Given the description of an element on the screen output the (x, y) to click on. 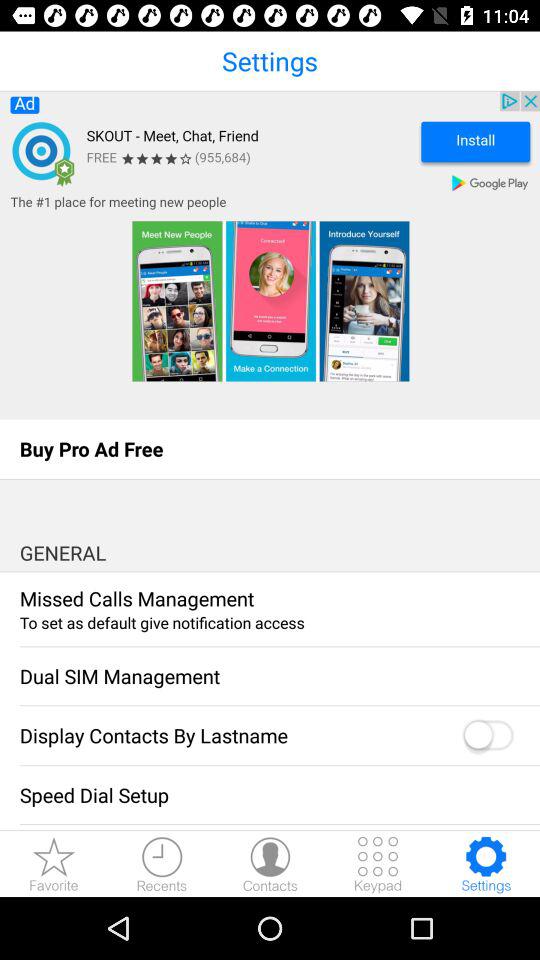
contact screen (269, 864)
